Given the description of an element on the screen output the (x, y) to click on. 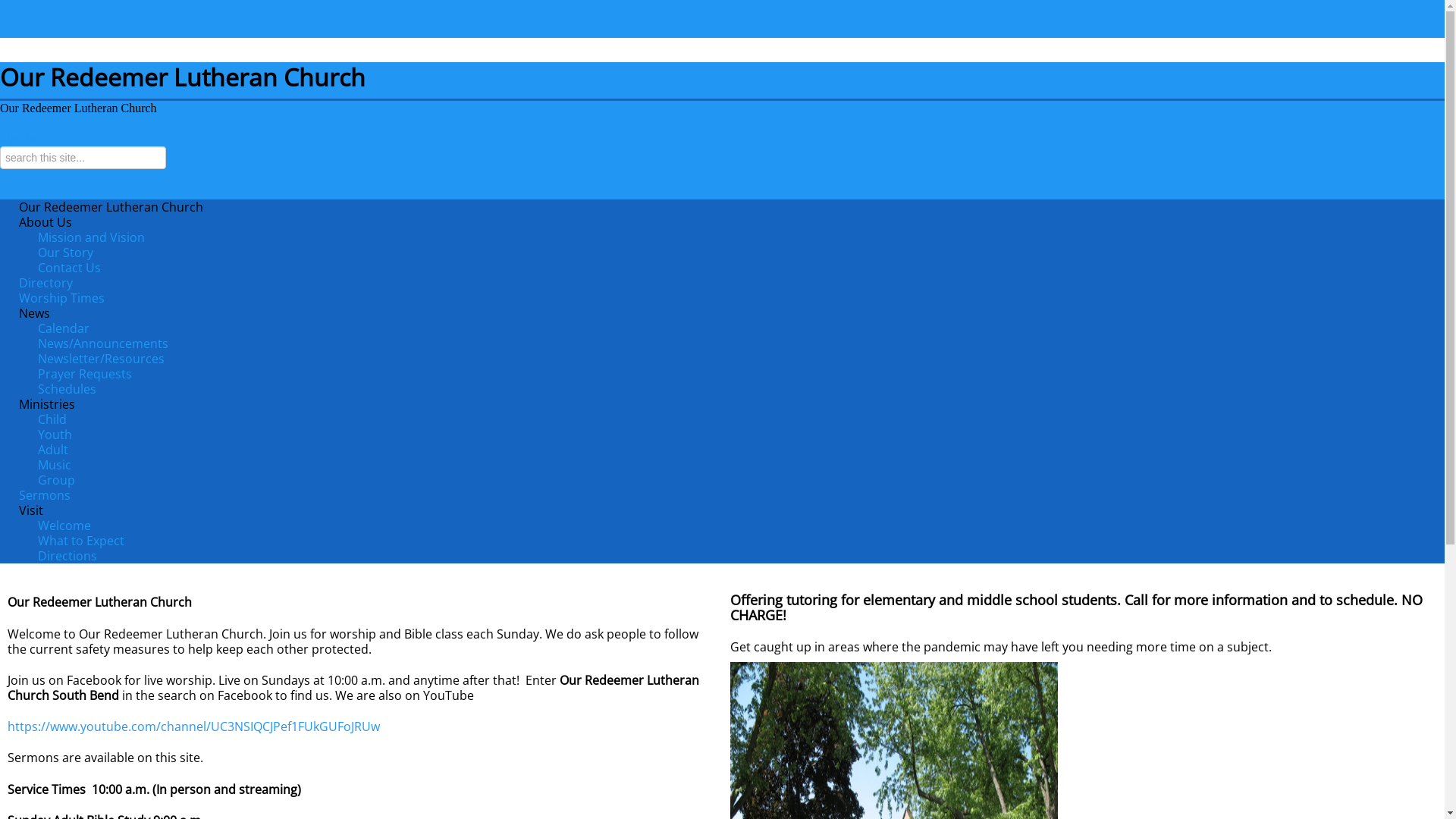
Welcome Element type: text (64, 525)
Worship Times Element type: text (61, 297)
Contact Us Element type: text (68, 267)
What to Expect Element type: text (80, 540)
Directory Element type: text (45, 282)
Group Element type: text (56, 479)
News/Announcements Element type: text (102, 343)
Child Element type: text (51, 419)
Prayer Requests Element type: text (84, 373)
Adult Element type: text (52, 449)
Calendar Element type: text (63, 328)
Directions Element type: text (67, 555)
Sign in Element type: text (17, 137)
Sermons Element type: text (44, 494)
Youth Element type: text (54, 434)
Music Element type: text (54, 464)
https://www.youtube.com/channel/UC3NSIQCJPef1FUkGUFoJRUw Element type: text (193, 726)
Schedules Element type: text (66, 388)
Mission and Vision Element type: text (90, 237)
Our Story Element type: text (65, 252)
Newsletter/Resources Element type: text (100, 358)
